Given the description of an element on the screen output the (x, y) to click on. 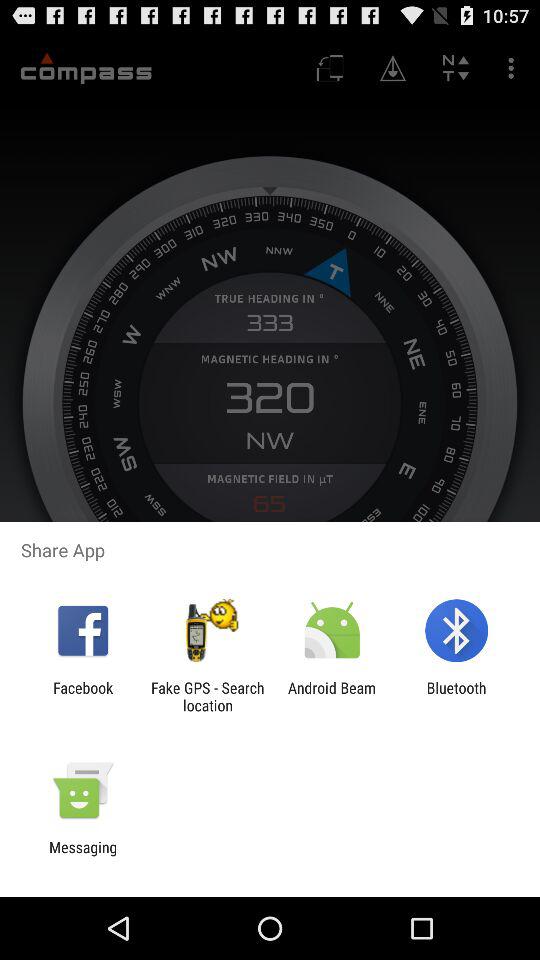
press item to the right of the android beam app (456, 696)
